Given the description of an element on the screen output the (x, y) to click on. 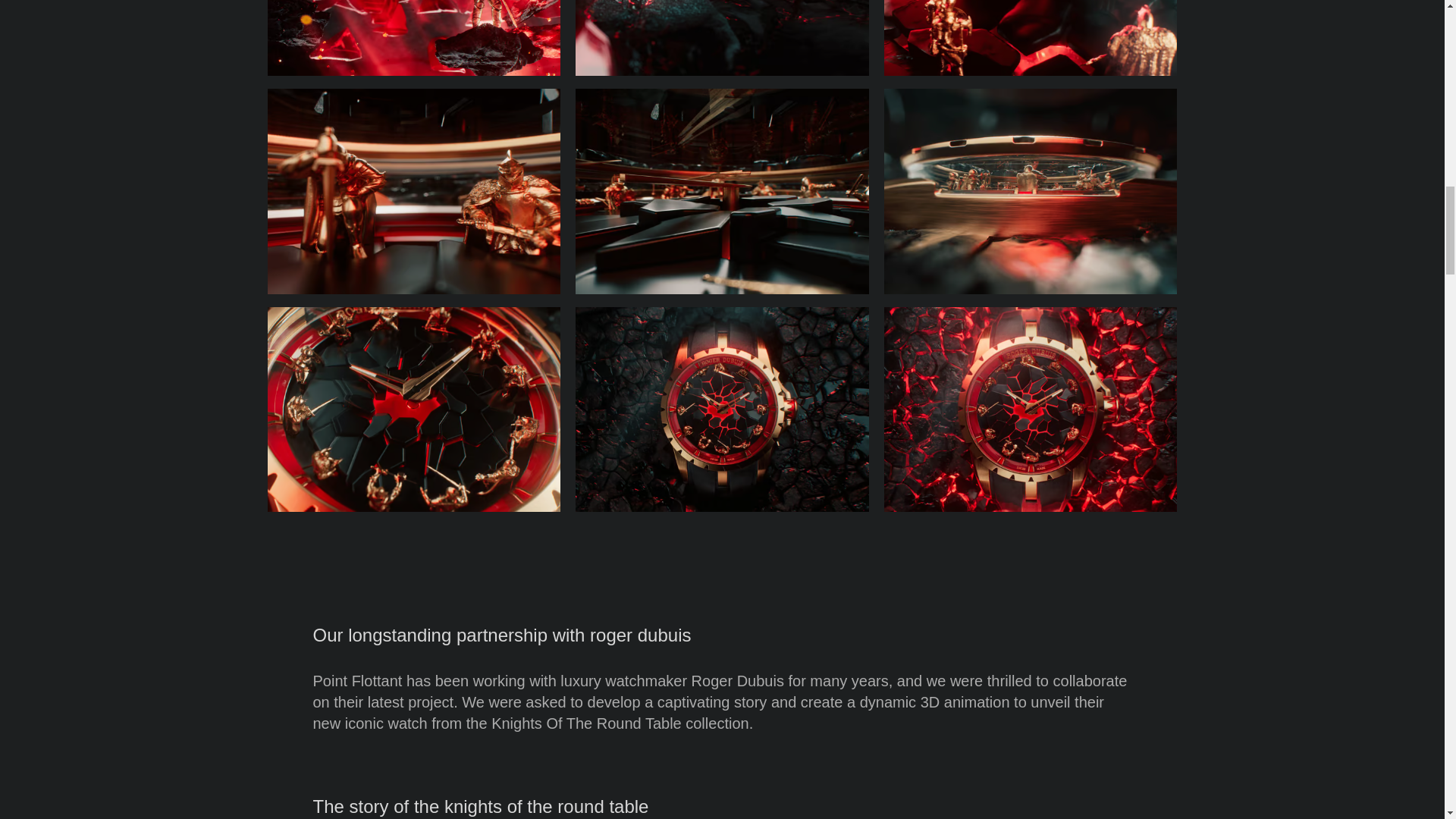
Enlarge Image (413, 38)
Enlarge Image (722, 38)
